Given the description of an element on the screen output the (x, y) to click on. 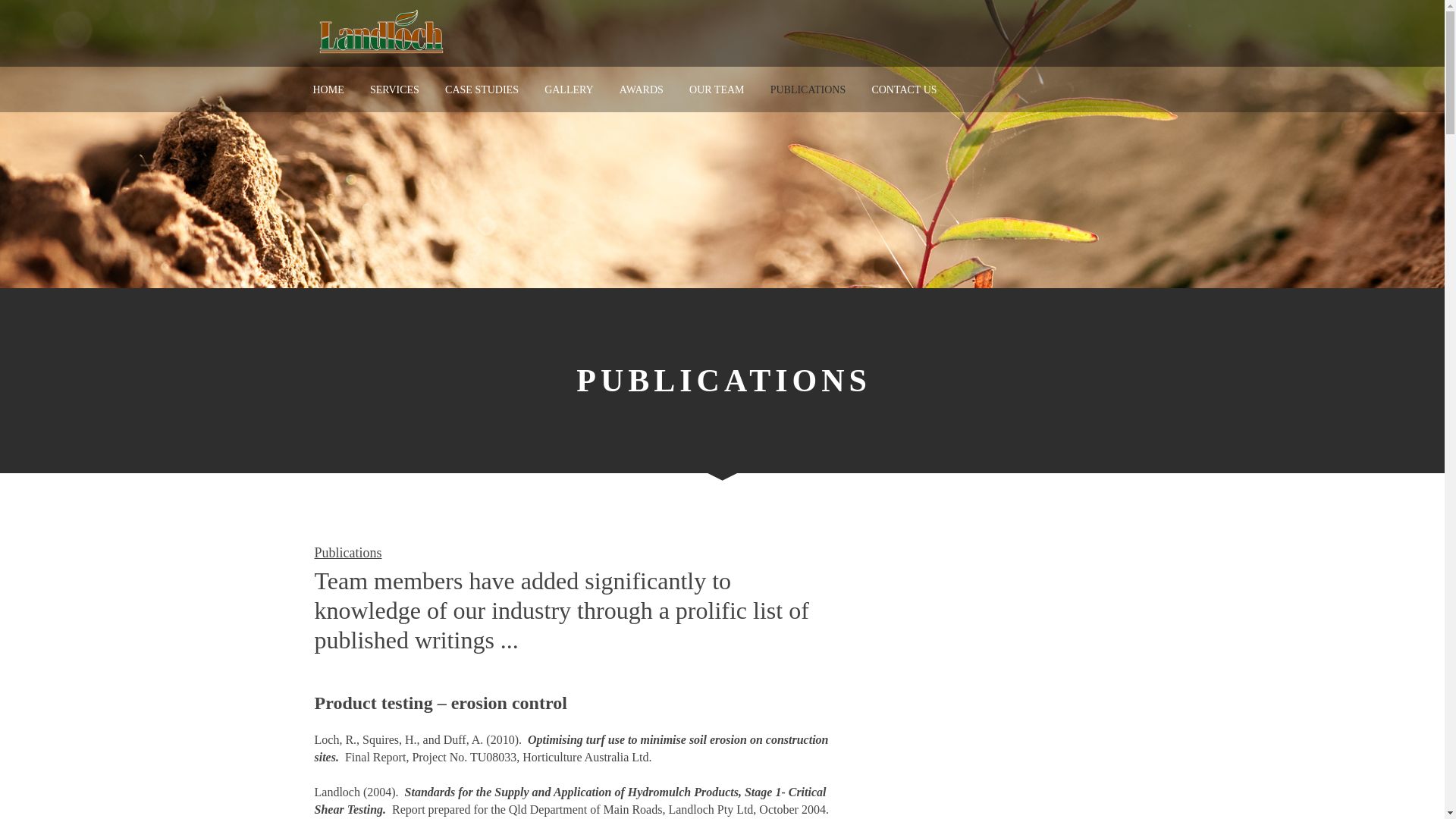
AWARDS Element type: text (641, 89)
PUBLICATIONS Element type: text (808, 89)
SERVICES Element type: text (394, 89)
CONTACT US Element type: text (903, 89)
HOME Element type: text (327, 89)
CASE STUDIES Element type: text (481, 89)
OUR TEAM Element type: text (716, 89)
GALLERY Element type: text (568, 89)
